Given the description of an element on the screen output the (x, y) to click on. 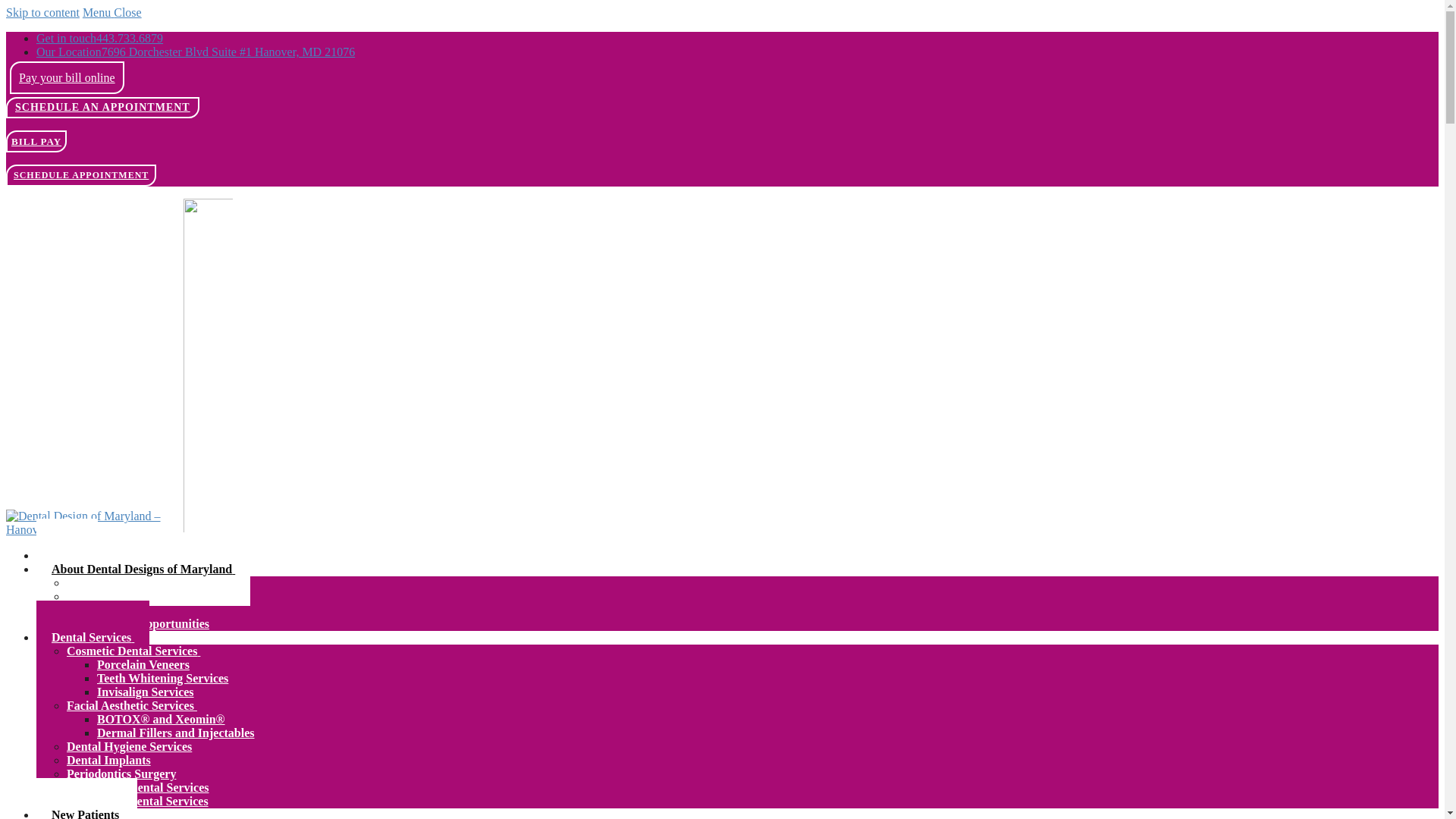
Porcelain Veneers (143, 664)
Teeth Whitening Services (162, 677)
BILL PAY (35, 141)
SCHEDULE APPOINTMENT (80, 174)
New Patients  (86, 798)
Cosmetic Dental Services  (133, 650)
Dental Services  (92, 637)
Emergency Dental Services (137, 800)
Office Tour (96, 609)
Our Location (195, 51)
About Dental Designs of Maryland  (143, 569)
SCHEDULE AN APPOINTMENT (102, 107)
Our Dentists (99, 582)
Skip to content (42, 11)
Periodontics Surgery (121, 773)
